Given the description of an element on the screen output the (x, y) to click on. 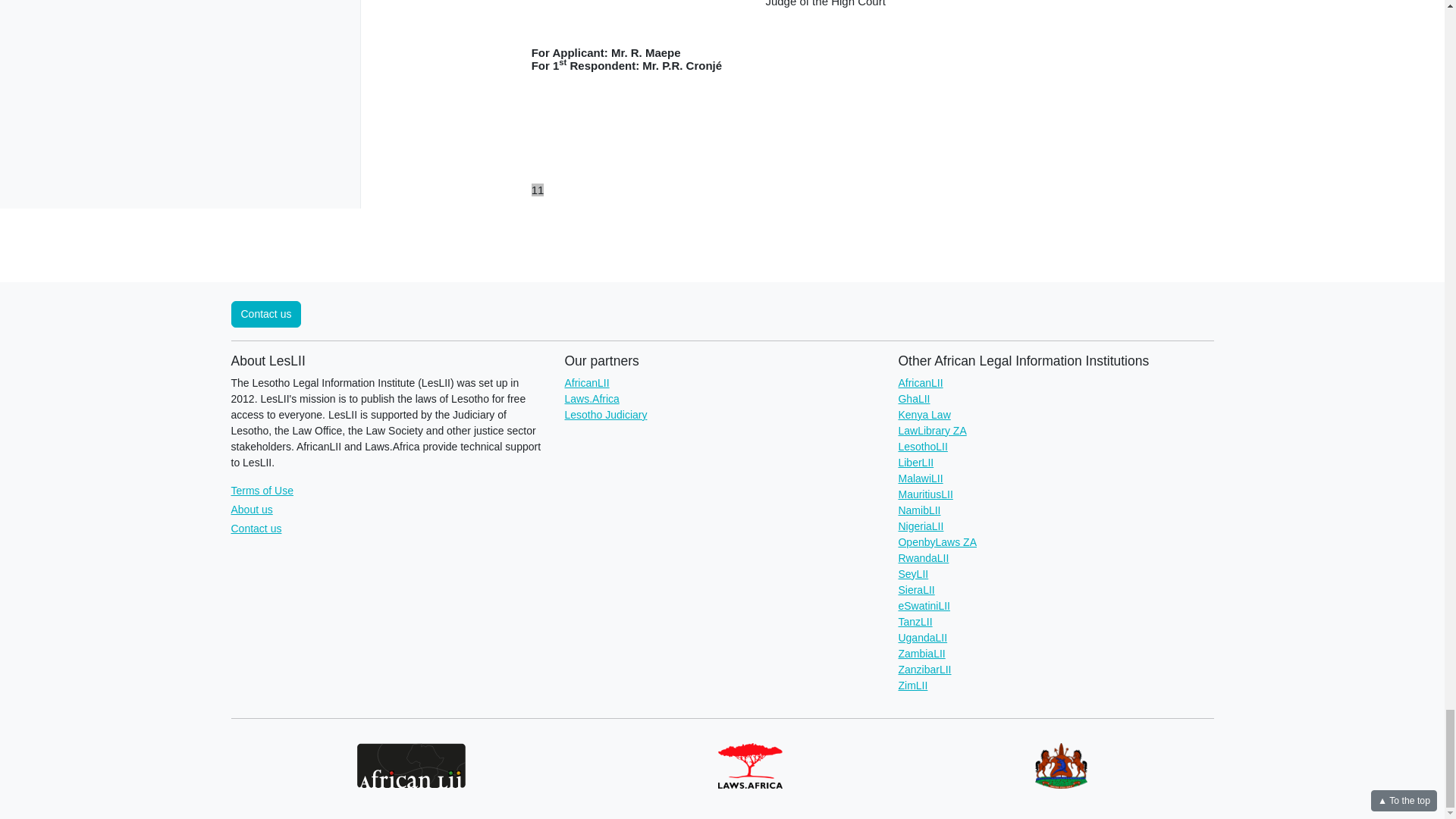
footer (825, 196)
